Given the description of an element on the screen output the (x, y) to click on. 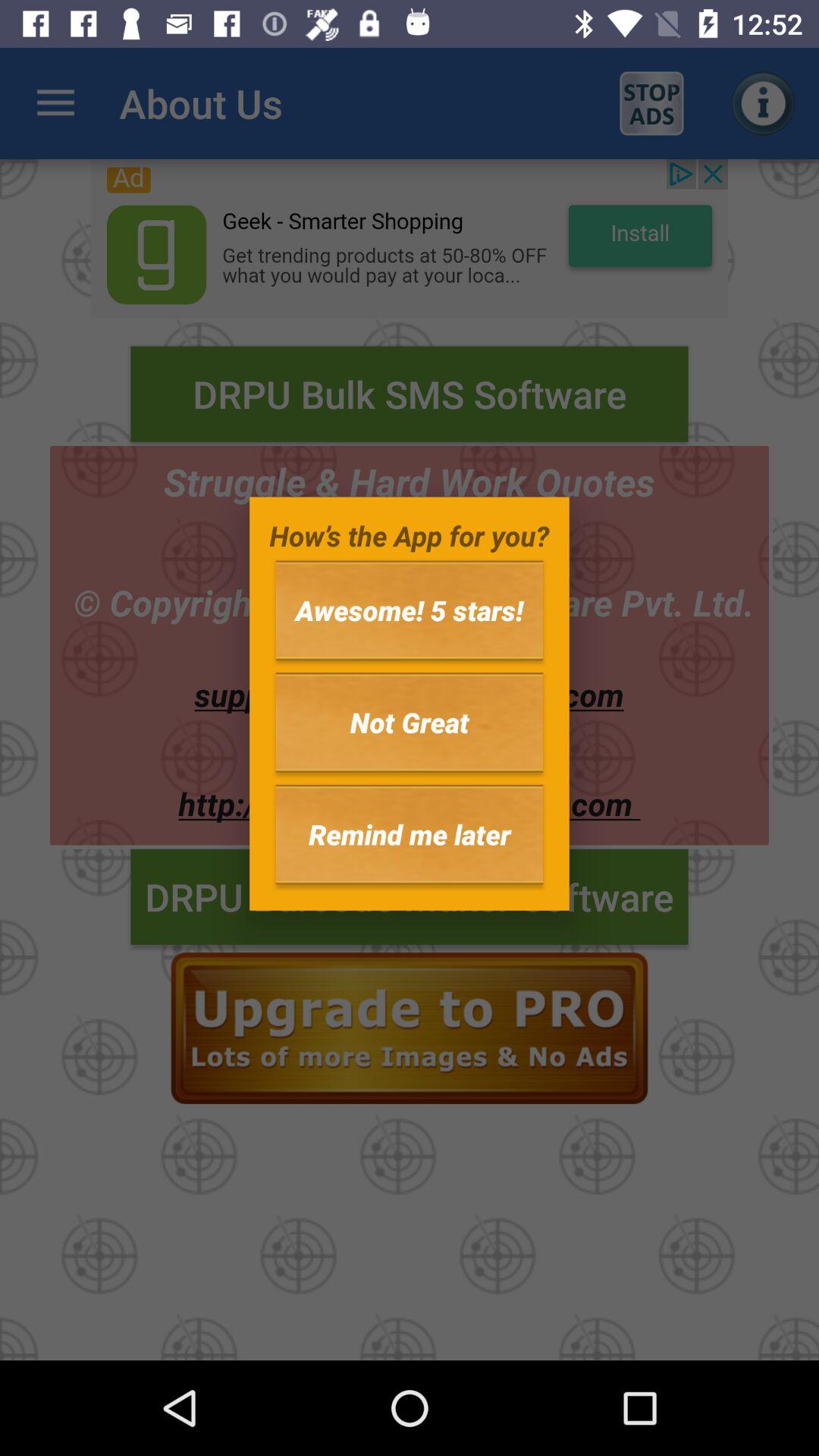
select awesome! 5 stars! icon (409, 610)
